Given the description of an element on the screen output the (x, y) to click on. 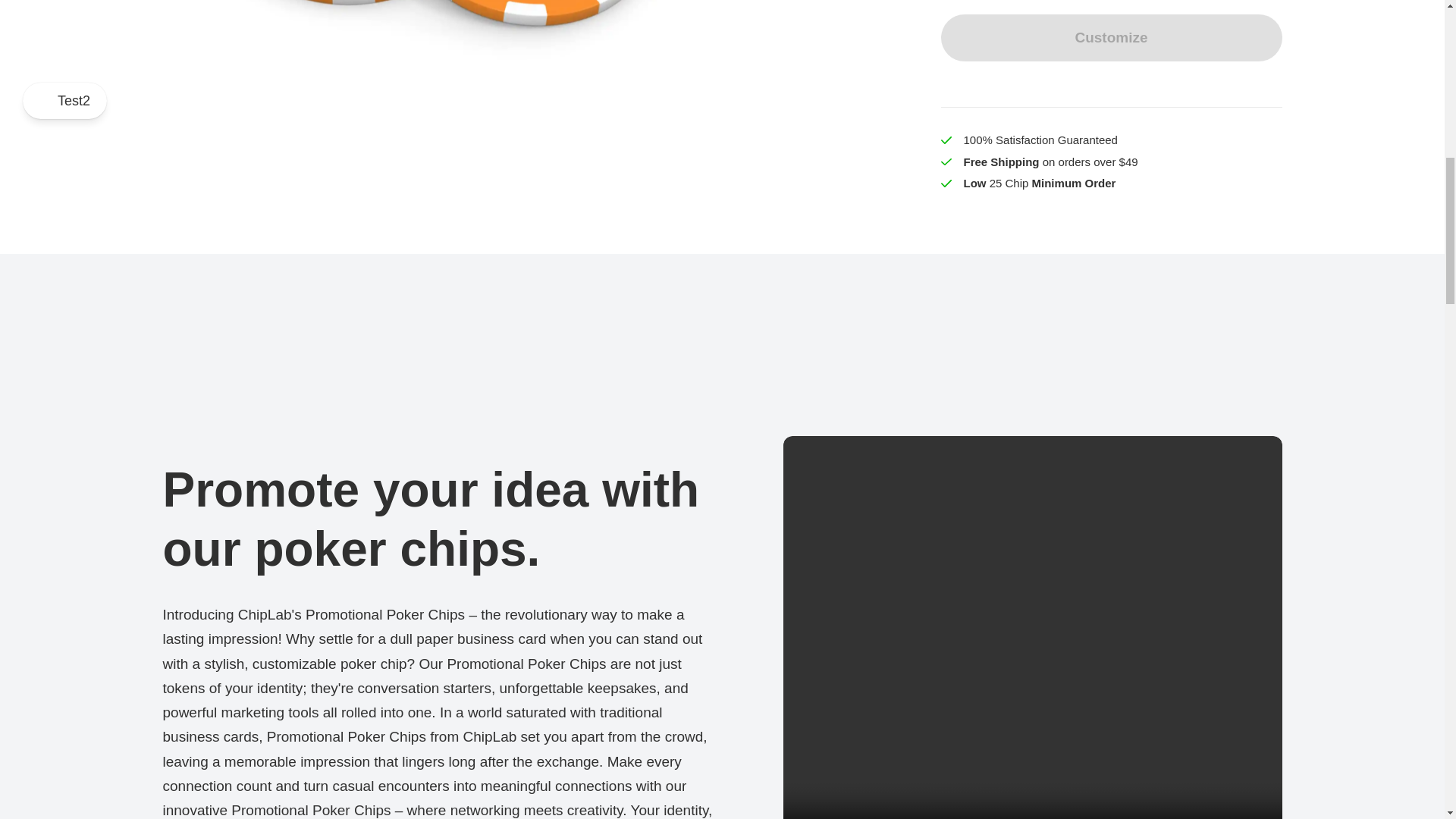
Customize (1110, 37)
